Given the description of an element on the screen output the (x, y) to click on. 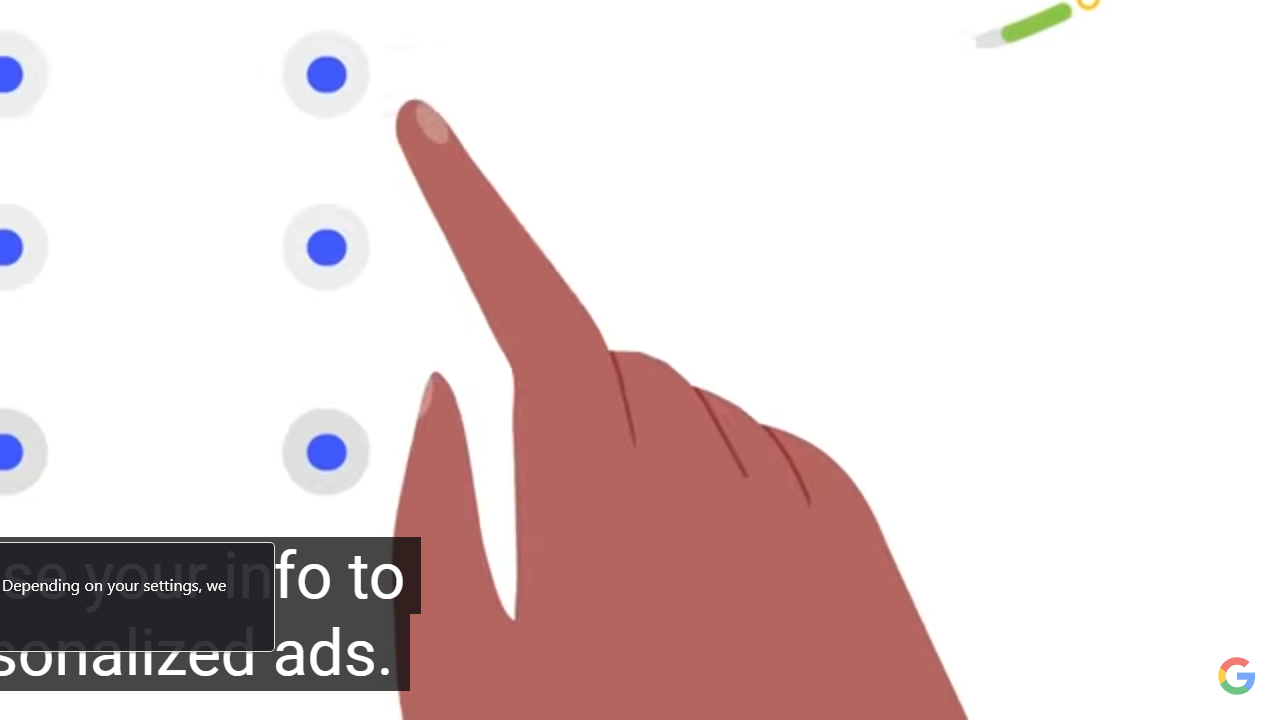
Settings (1174, 693)
Channel watermark (1236, 675)
Subtitles/closed captions unavailable (1121, 693)
Channel watermark (1236, 675)
Full screen keyboard shortcut f (1228, 693)
